Given the description of an element on the screen output the (x, y) to click on. 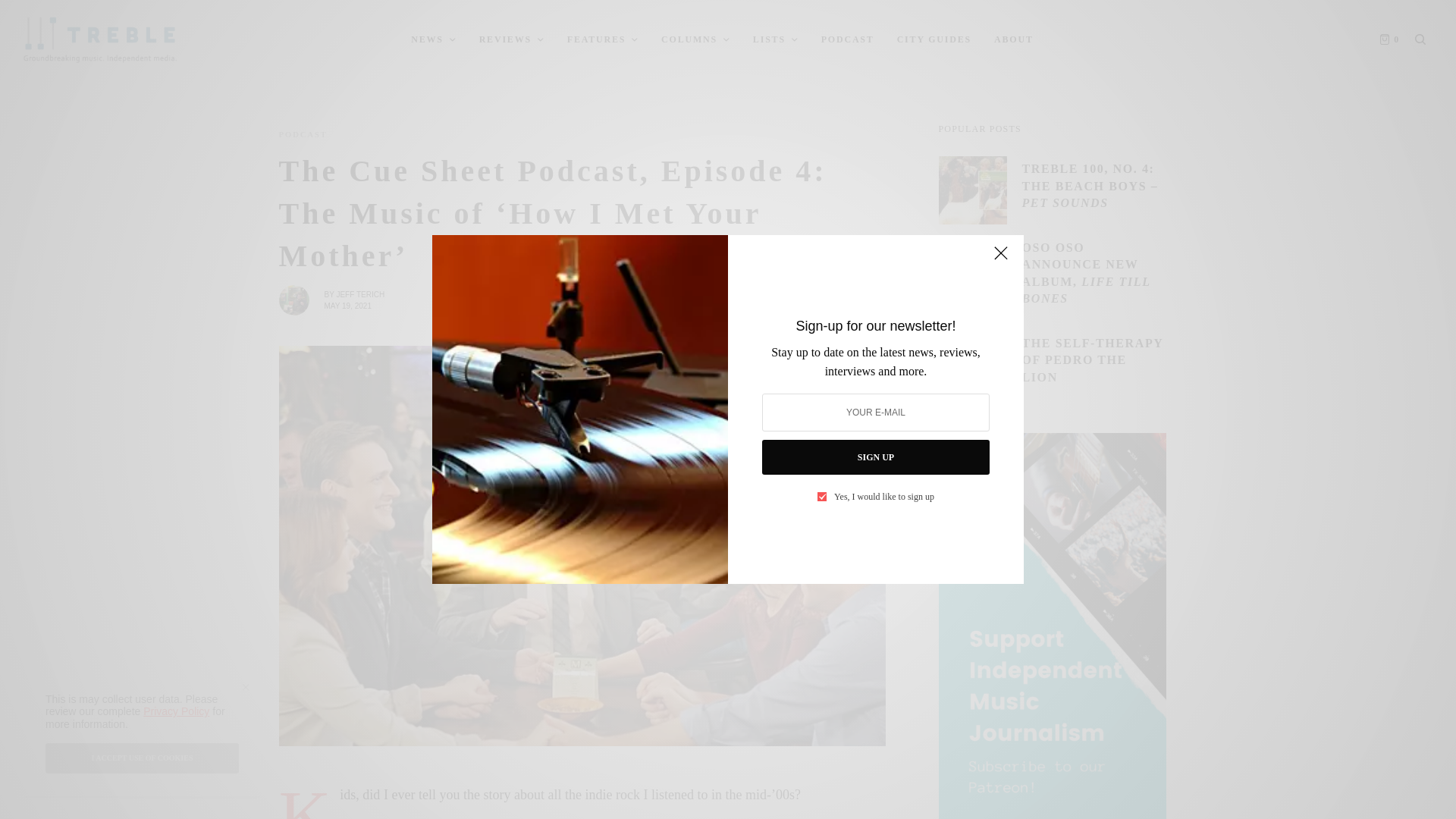
FEATURES (603, 39)
Posts by Jeff Terich (360, 293)
Oso Oso announce new album, life till bones (1094, 273)
JEFF TERICH (360, 293)
Treble (100, 39)
SIGN UP (875, 457)
CITY GUIDES (933, 39)
PODCAST (303, 134)
The self-therapy of Pedro the Lion (1094, 359)
